Given the description of an element on the screen output the (x, y) to click on. 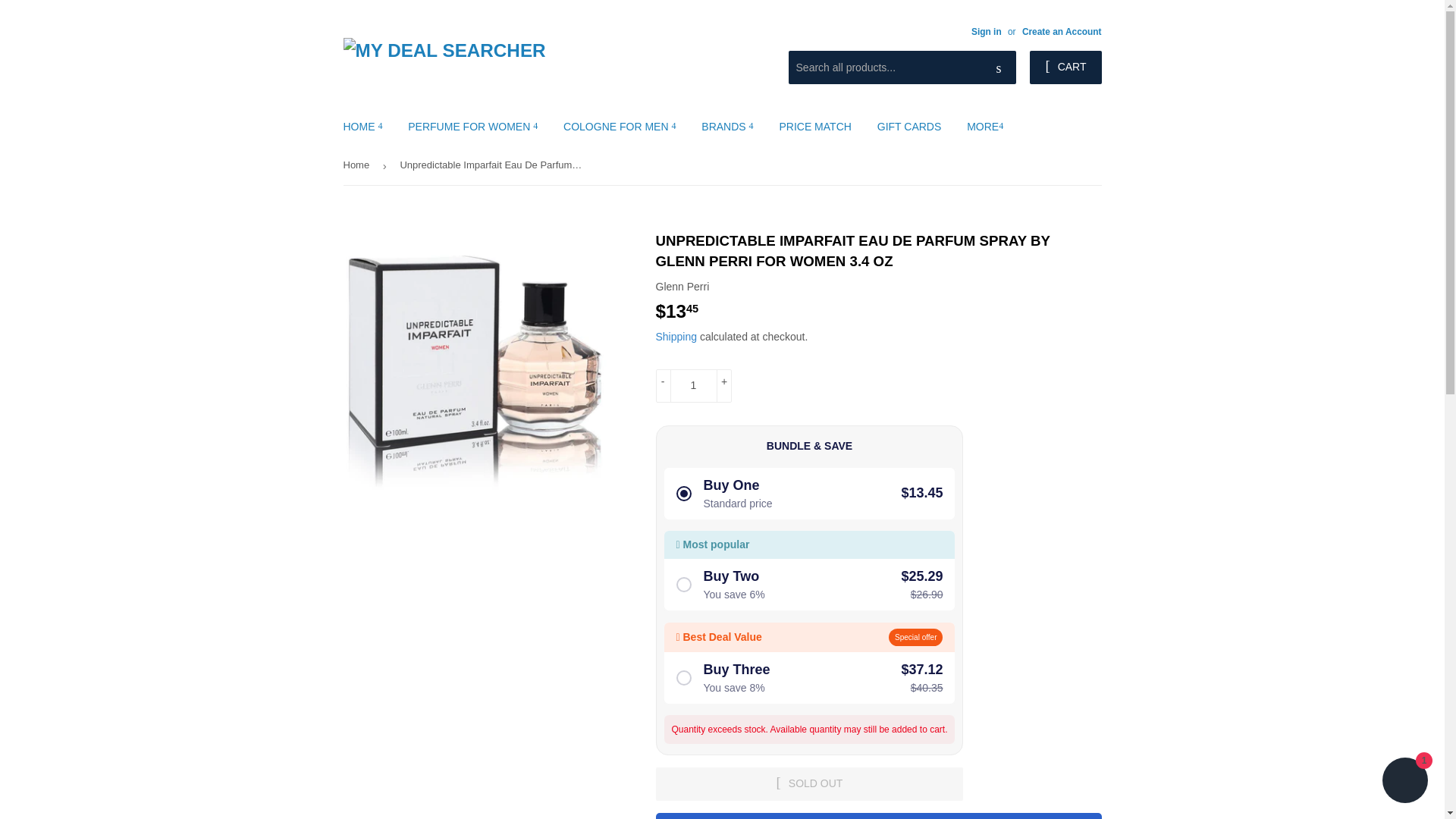
Sign in (986, 31)
Shopify online store chat (1404, 781)
CART (1064, 67)
Search (998, 68)
1 (692, 385)
Create an Account (1062, 31)
